Given the description of an element on the screen output the (x, y) to click on. 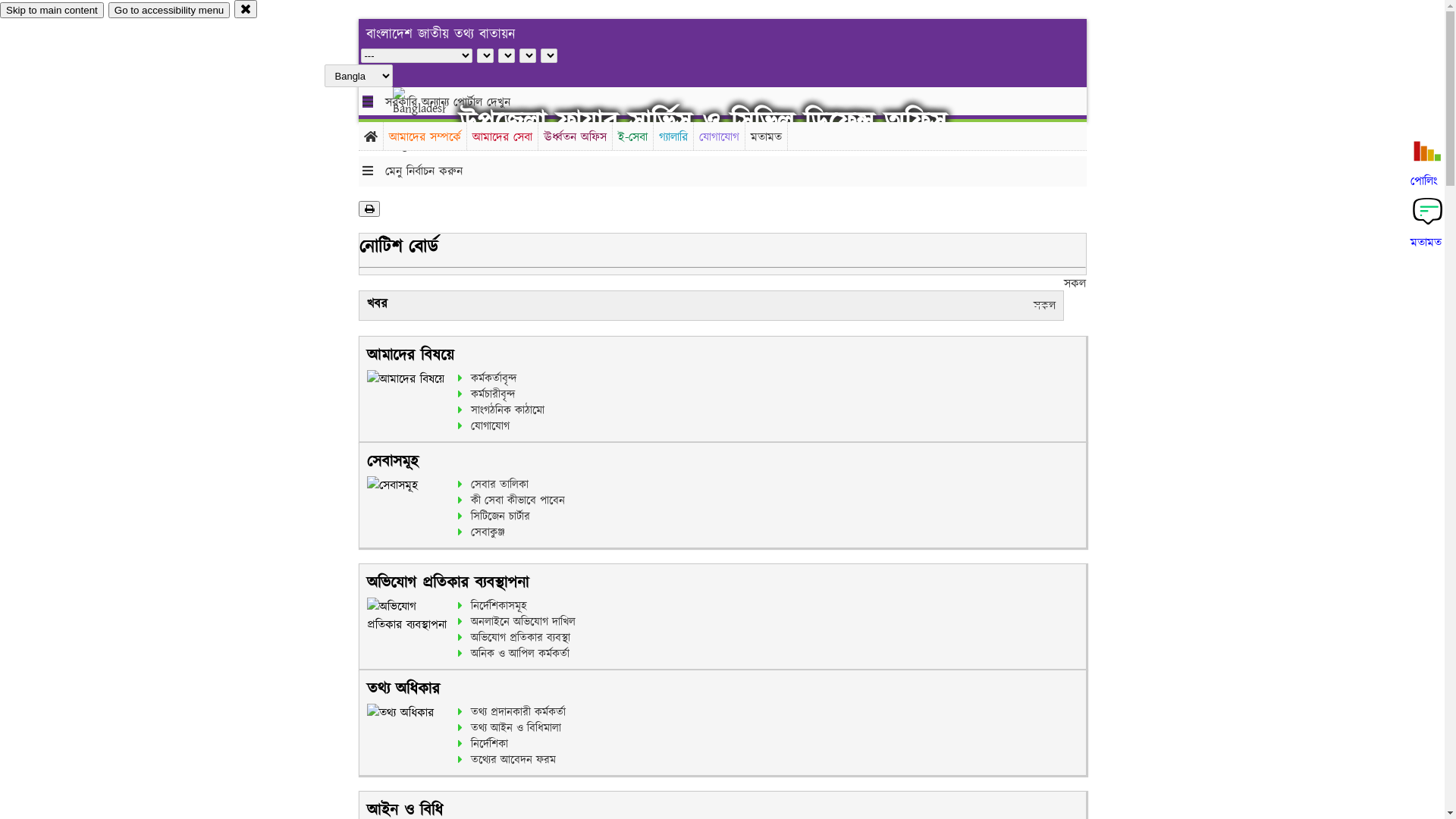
Skip to main content Element type: text (51, 10)
Go to accessibility menu Element type: text (168, 10)
close Element type: hover (245, 9)

                
             Element type: hover (431, 120)
